Given the description of an element on the screen output the (x, y) to click on. 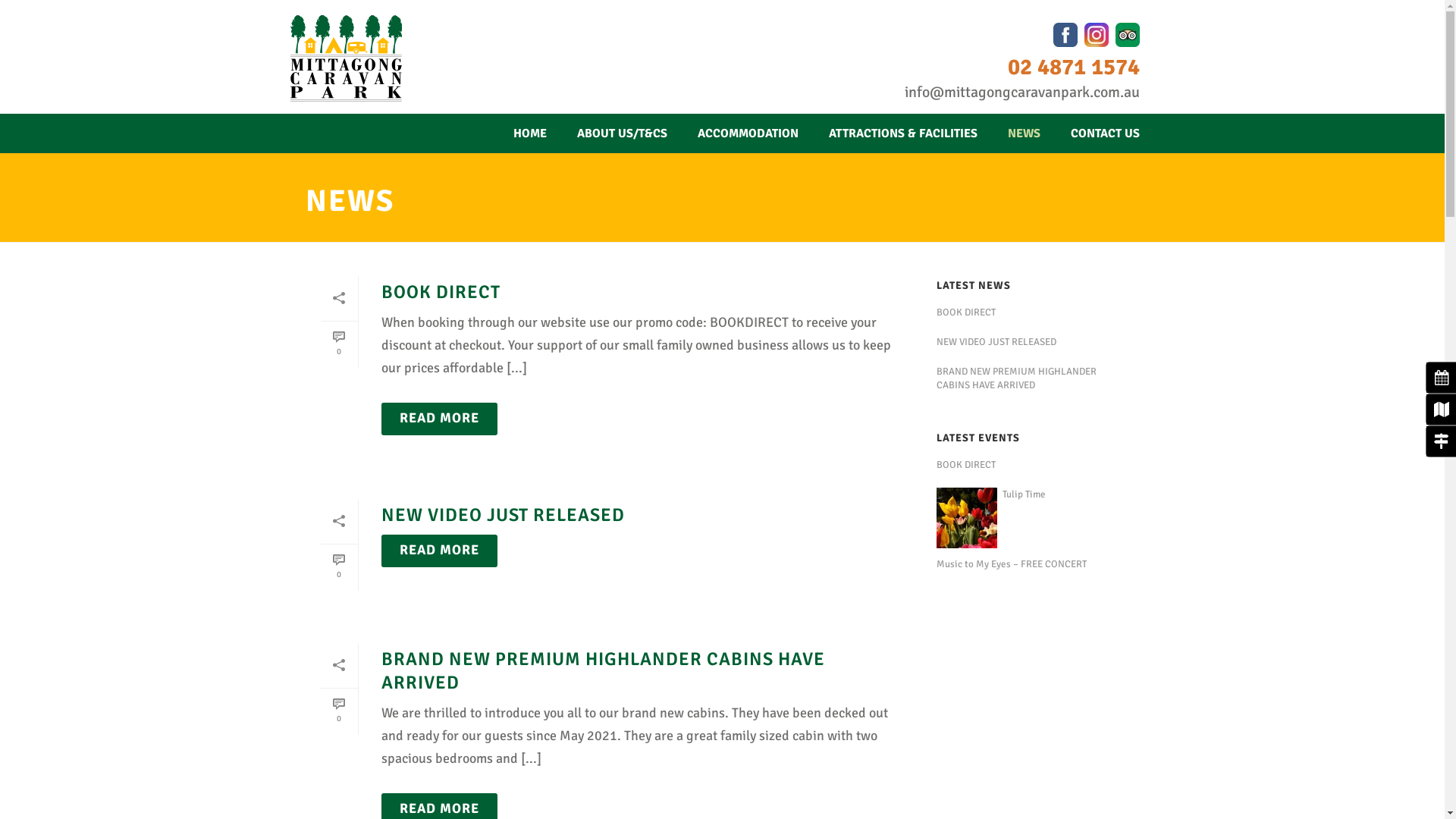
ACCOMMODATION Element type: text (747, 133)
READ MORE Element type: text (438, 418)
NEWS Element type: text (1022, 133)
02 4871 1574 Element type: text (1073, 67)
NEW VIDEO JUST RELEASED Element type: text (502, 514)
CONTACT US Element type: text (1104, 133)
0 Element type: text (338, 566)
BOOK DIRECT Element type: text (1034, 312)
BRAND NEW PREMIUM HIGHLANDER CABINS HAVE ARRIVED Element type: text (1034, 378)
0 Element type: text (338, 711)
0 Element type: text (338, 344)
ABOUT US/T&CS Element type: text (621, 133)
Accommodation in Southern Highlands New South Wales Element type: hover (345, 58)
ATTRACTIONS & FACILITIES Element type: text (901, 133)
HOME Element type: text (529, 133)
BRAND NEW PREMIUM HIGHLANDER CABINS HAVE ARRIVED Element type: text (602, 670)
Tulip Time Element type: hover (966, 517)
info@mittagongcaravanpark.com.au Element type: text (1021, 91)
NEW VIDEO JUST RELEASED Element type: text (1034, 341)
READ MORE Element type: text (438, 550)
Tulip Time Element type: text (1034, 494)
BOOK DIRECT Element type: text (439, 291)
Mittagong Caravan Park Element type: hover (345, 57)
BOOK DIRECT Element type: text (1034, 464)
